Given the description of an element on the screen output the (x, y) to click on. 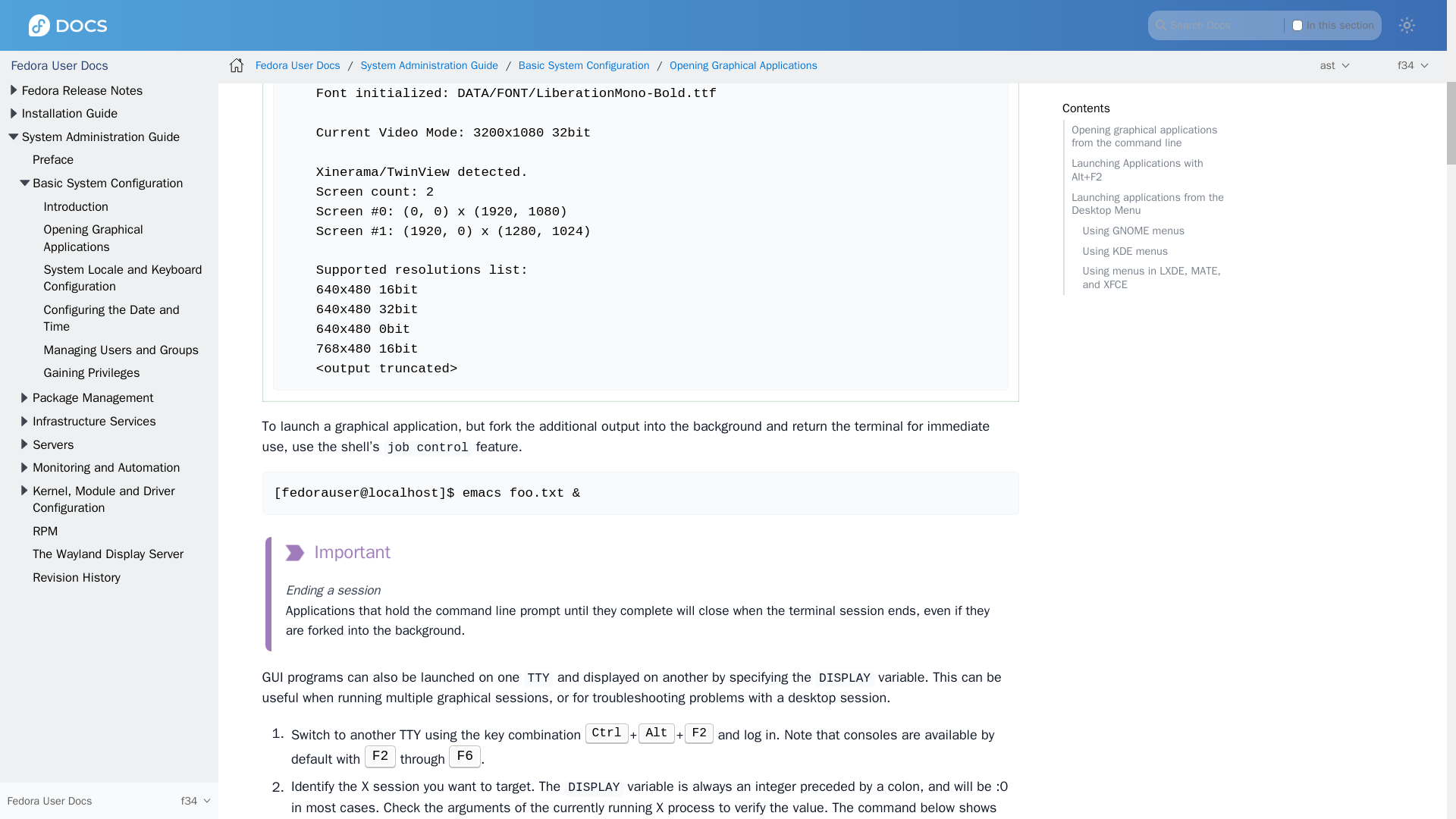
Important (336, 552)
